Given the description of an element on the screen output the (x, y) to click on. 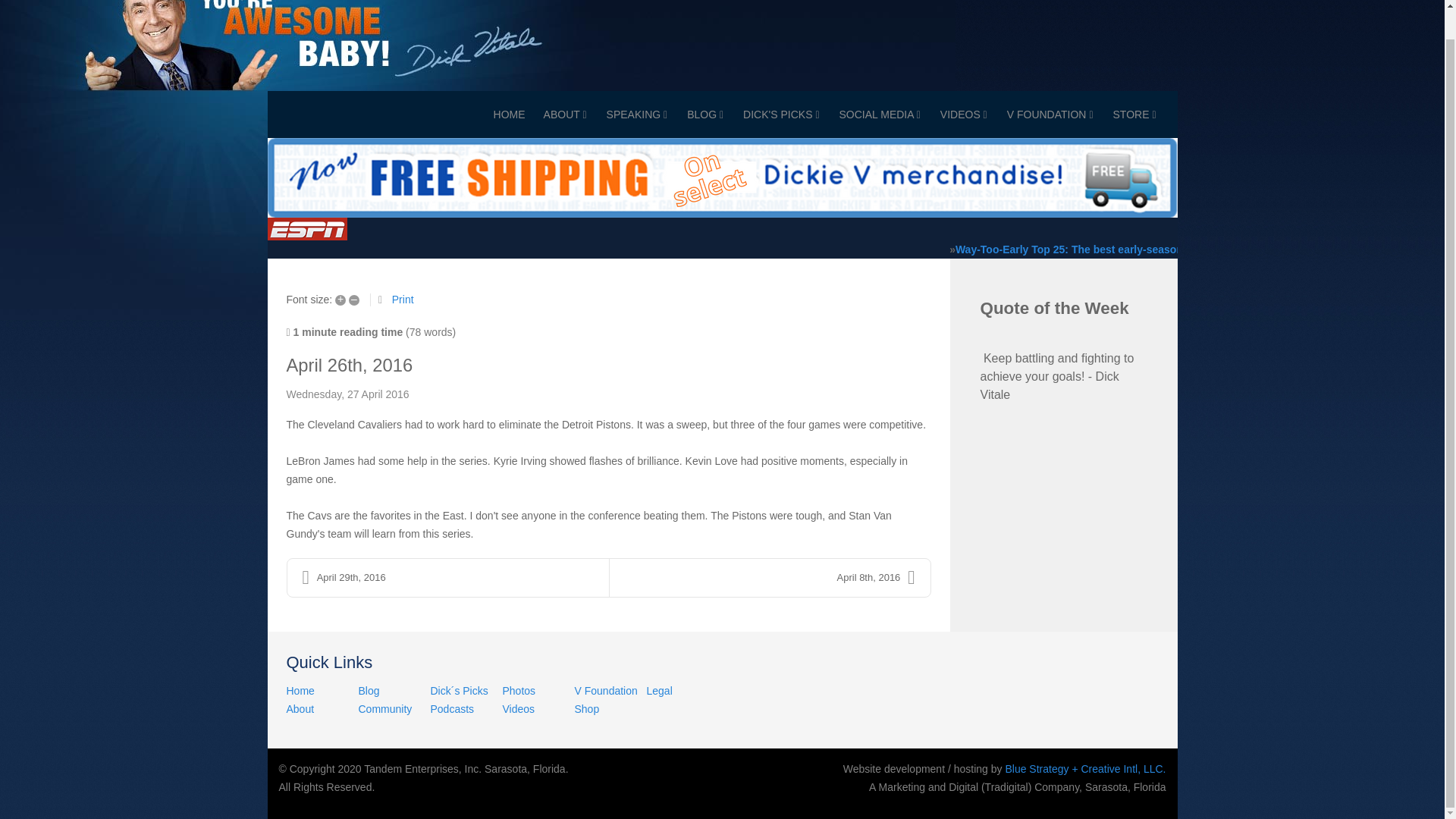
ABOUT (564, 114)
FREE SHIPPING-1200 (721, 176)
Print (402, 299)
SOCIAL MEDIA (878, 114)
DICK'S PICKS (780, 114)
STORE (1134, 114)
HOME (509, 114)
V FOUNDATION (1049, 114)
BLOG (705, 114)
ESPN (306, 228)
